Given the description of an element on the screen output the (x, y) to click on. 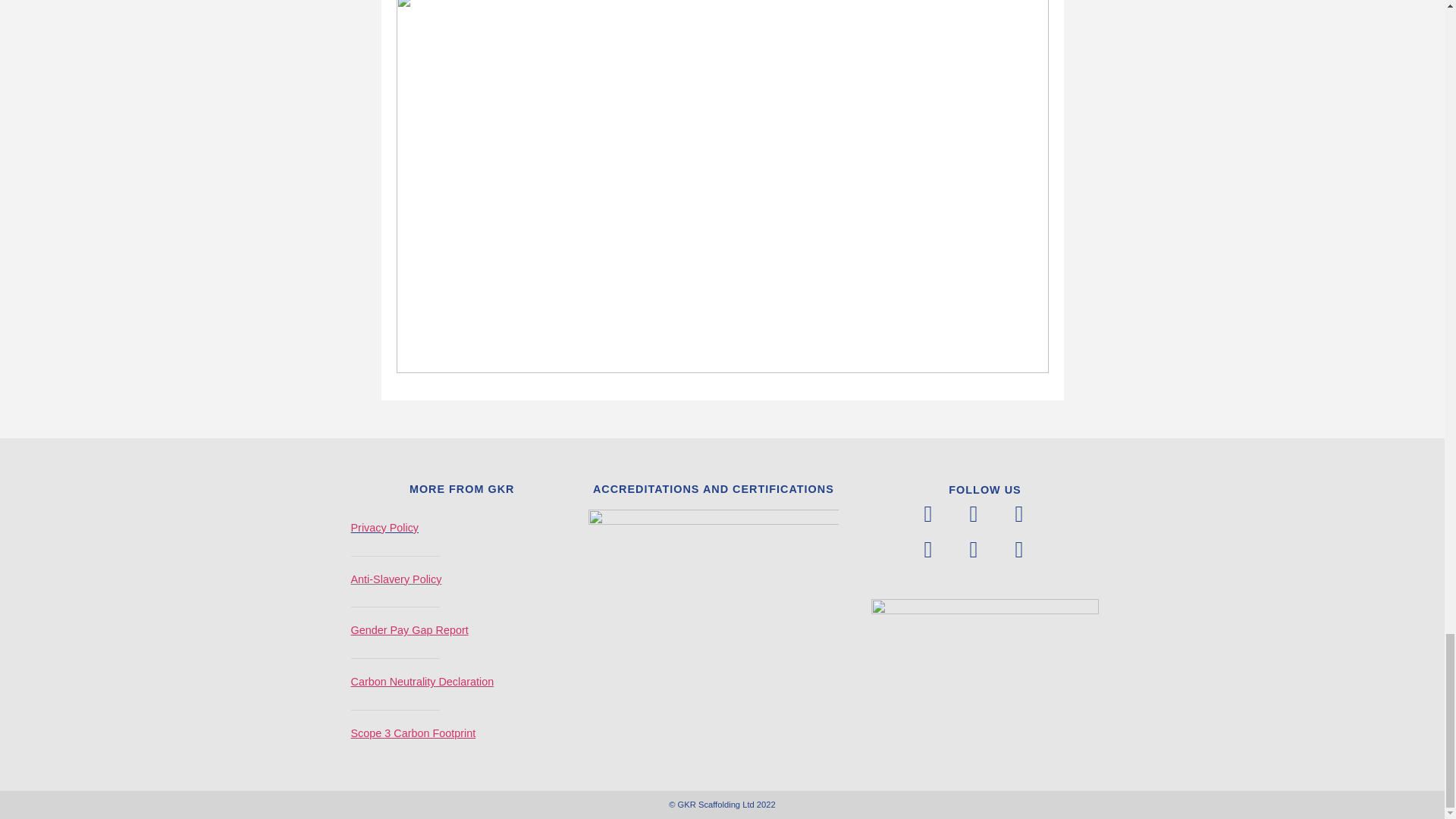
Carbon Neutrality Declaration (421, 681)
Gender Pay Gap Report (408, 630)
Anti-Slavery Policy (395, 579)
Privacy Policy (384, 527)
Scope 3 Carbon Footprint (413, 733)
